Given the description of an element on the screen output the (x, y) to click on. 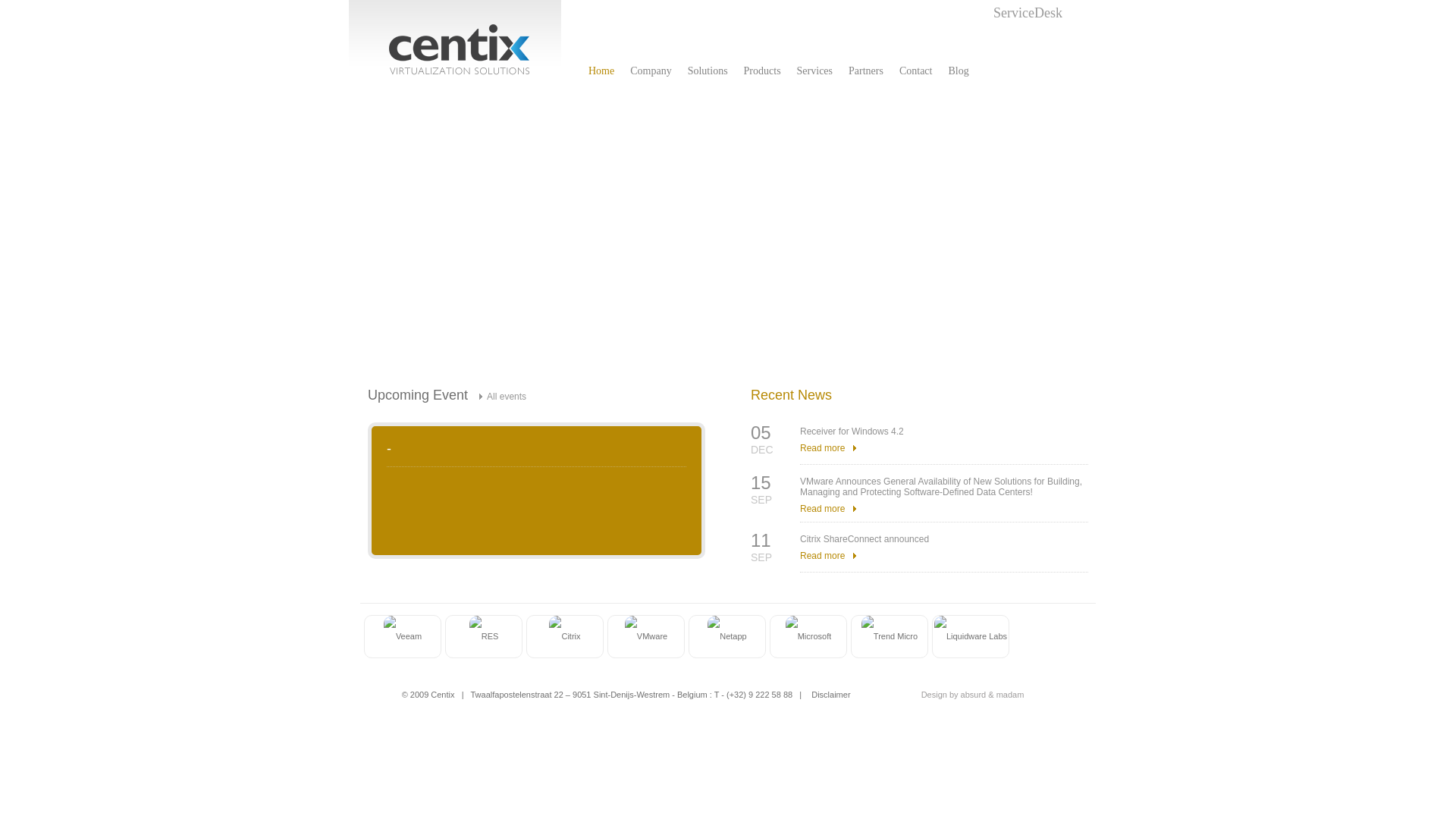
Products Element type: text (762, 71)
Read more Element type: text (828, 447)
Company Element type: text (650, 71)
ServiceDesk Element type: text (1023, 13)
Services Element type: text (814, 71)
Design by absurd & madam Element type: text (946, 694)
Blog Element type: text (957, 71)
Centix | Applied knowledge Element type: hover (454, 45)
Read more Element type: text (828, 508)
All events Element type: text (502, 396)
Disclaimer Element type: text (830, 694)
Partners Element type: text (865, 71)
Solutions Element type: text (707, 71)
Read more Element type: text (828, 555)
Contact Element type: text (915, 71)
Home Element type: text (600, 71)
